Given the description of an element on the screen output the (x, y) to click on. 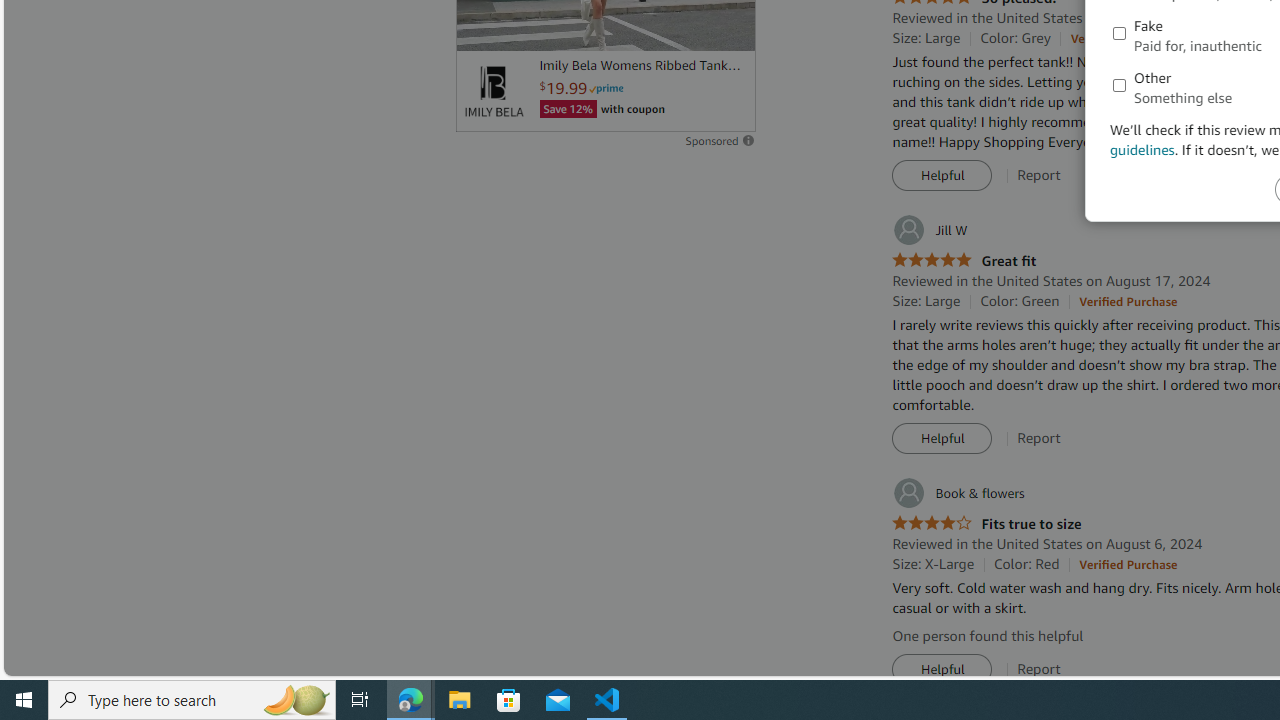
4.0 out of 5 stars Fits true to size (986, 524)
Helpful (942, 669)
Report (1039, 669)
5.0 out of 5 stars Great fit (964, 260)
Book & flowers (958, 493)
Jill W (929, 230)
Pause (481, 27)
Unmute (729, 27)
Logo (493, 91)
Verified Purchase (1128, 564)
Prime (605, 88)
